Given the description of an element on the screen output the (x, y) to click on. 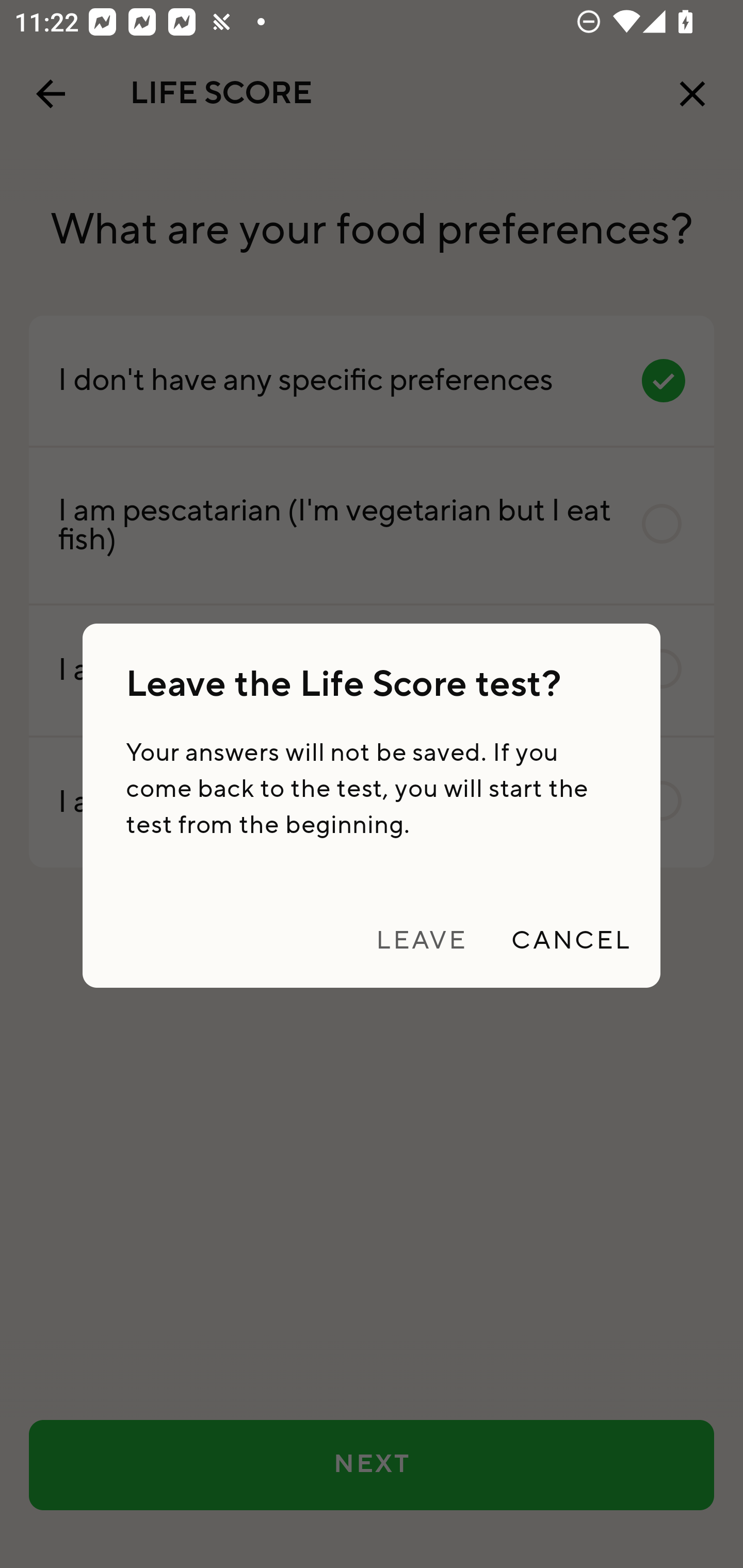
LEAVE (420, 940)
CANCEL (570, 940)
